Given the description of an element on the screen output the (x, y) to click on. 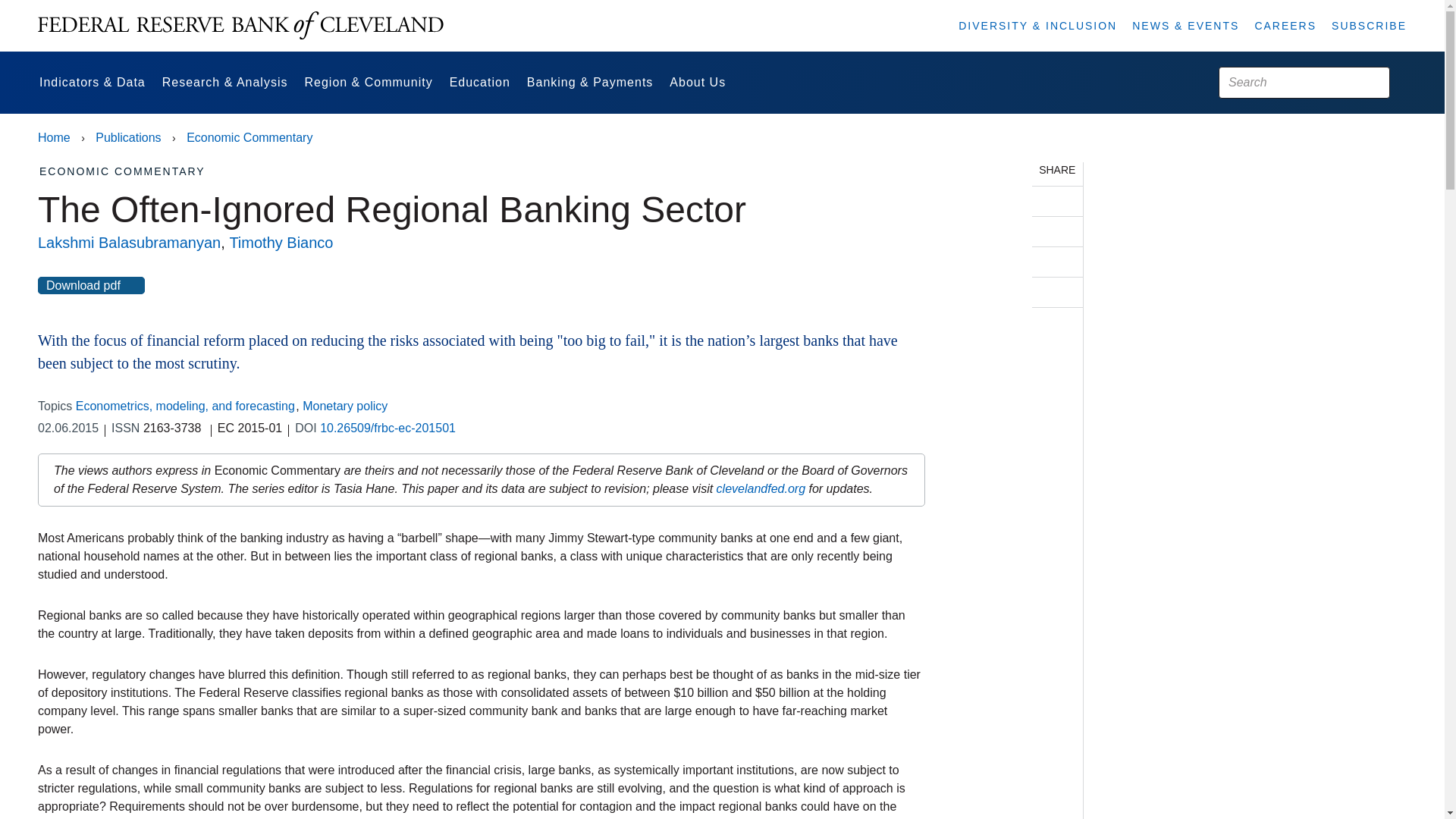
SUBSCRIBE (1369, 25)
CAREERS (1284, 25)
Federal Reserve Bank of Cleveland Home Page (240, 25)
